Given the description of an element on the screen output the (x, y) to click on. 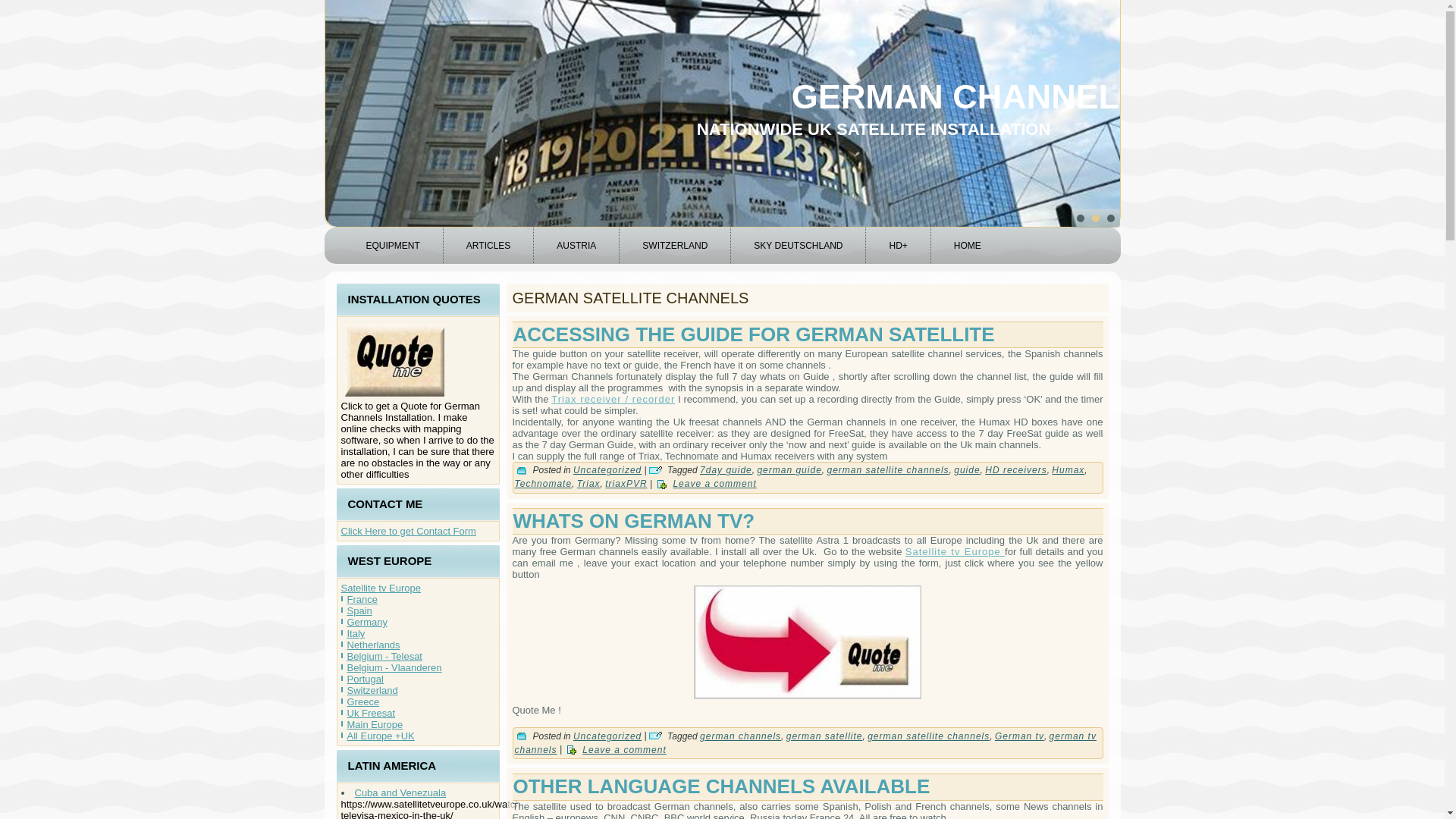
HOME (967, 245)
GERMAN CHANNELS (967, 96)
Equipment (392, 245)
EQUIPMENT (392, 245)
SKY DEUTSCHLAND (797, 245)
AUSTRIA (576, 245)
ARTICLES (488, 245)
Articles (488, 245)
SWITZERLAND (675, 245)
